Given the description of an element on the screen output the (x, y) to click on. 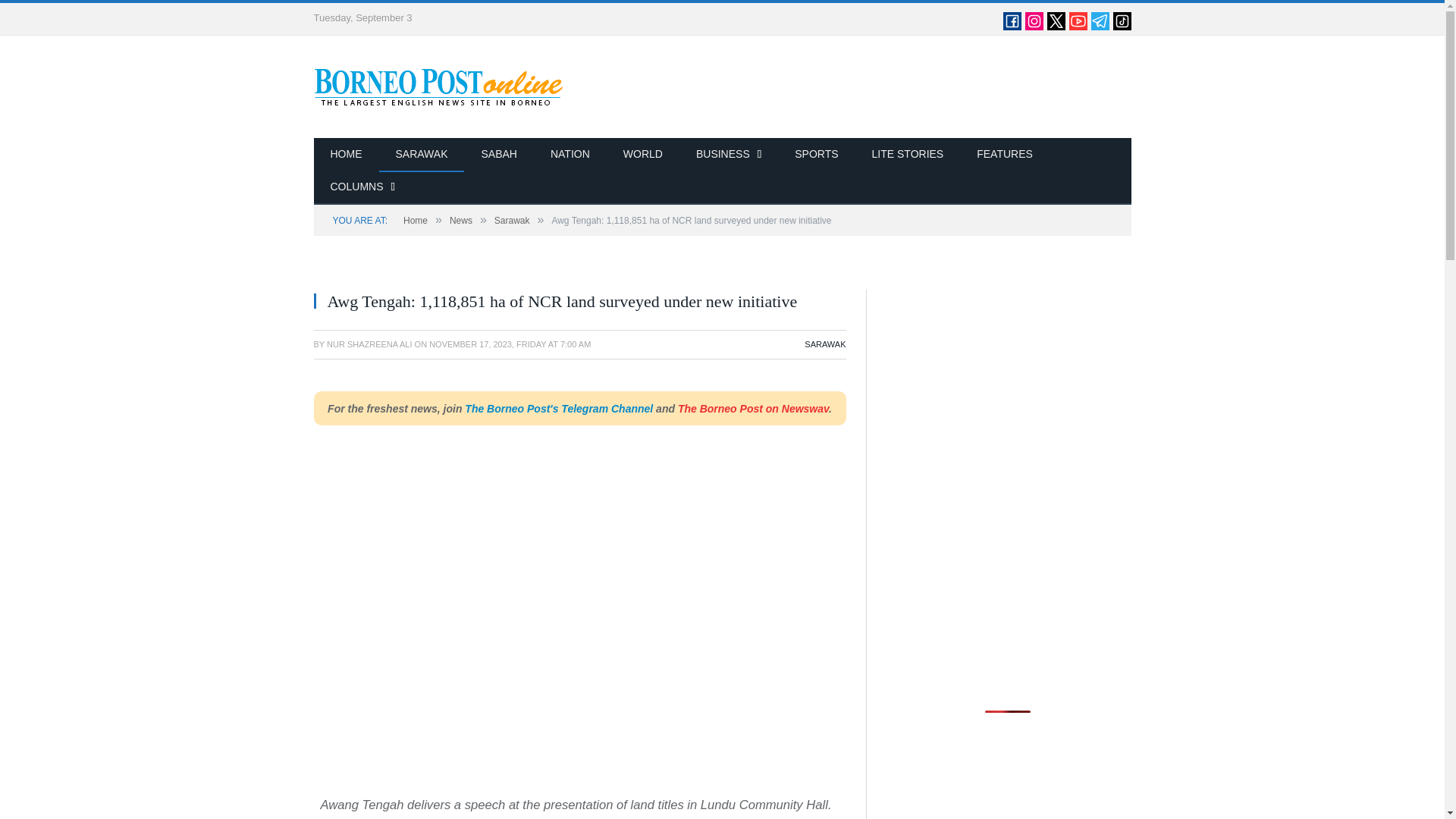
Telegram (1099, 26)
HOME (346, 154)
2023-11-17 (510, 343)
Sarawak (512, 220)
TikTok (1122, 26)
The Borneo Post on Newswav (753, 408)
Borneo Post Online (439, 86)
Instagram (1034, 26)
FEATURES (1004, 154)
YouTube (1077, 26)
